Given the description of an element on the screen output the (x, y) to click on. 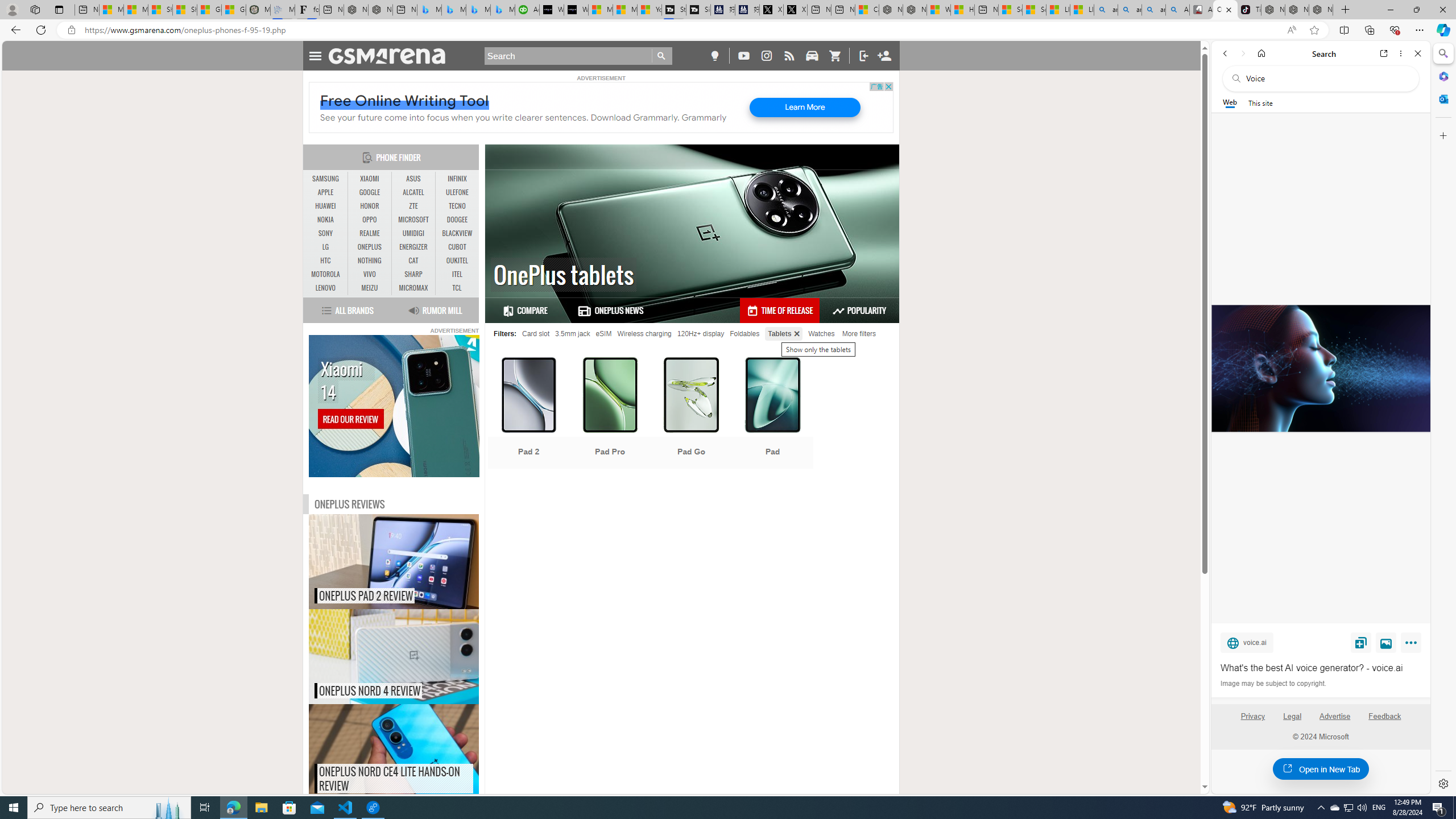
ITEL (457, 273)
ALCATEL (413, 192)
Forward (1242, 53)
GOOGLE (369, 192)
CAT (413, 260)
LG (325, 246)
voice.ai (1247, 642)
120Hz+ display (701, 333)
Amazon Echo Robot - Search Images (1176, 9)
